Given the description of an element on the screen output the (x, y) to click on. 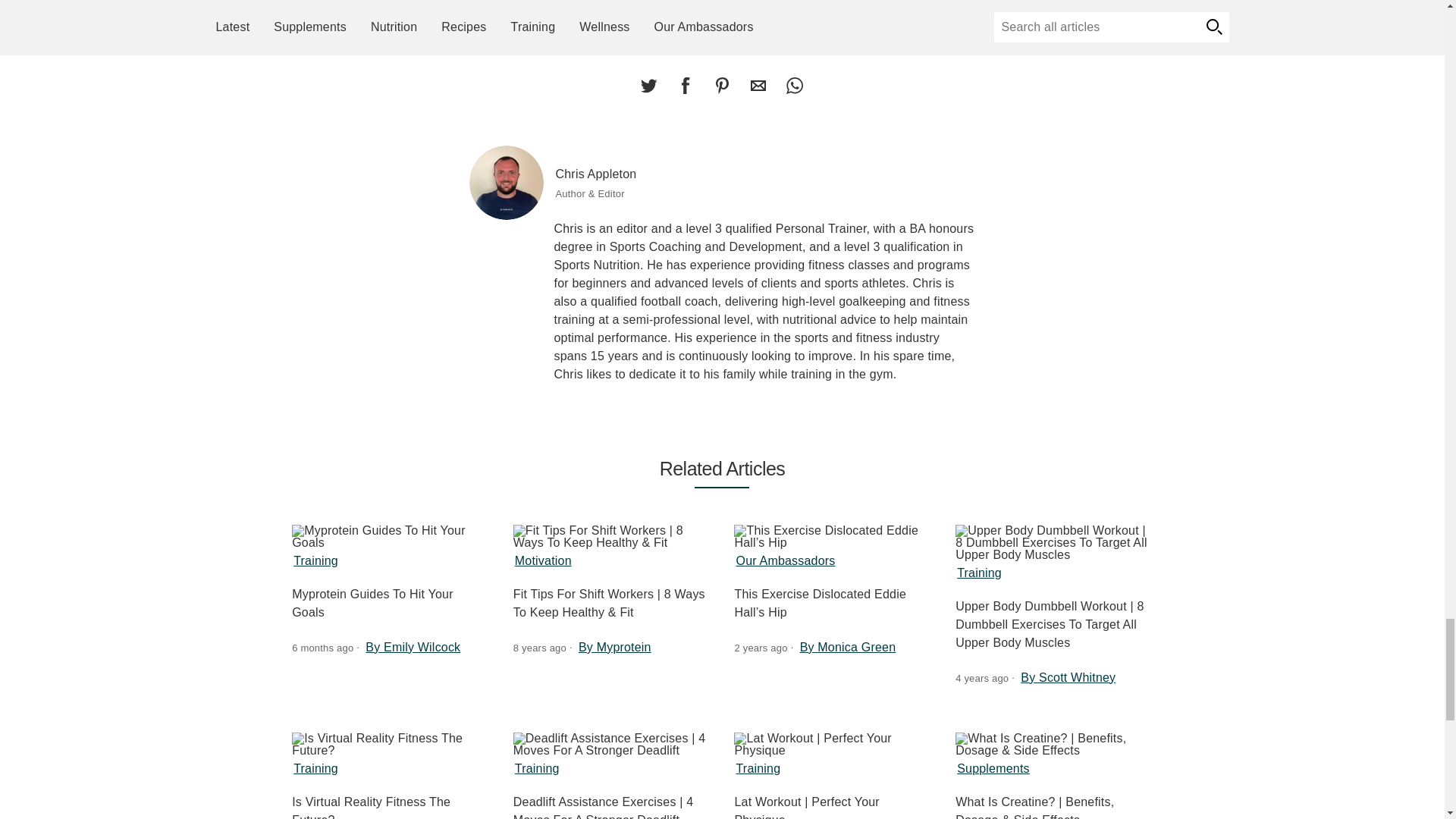
Share this on Pinterest (721, 85)
Share this by Email (757, 85)
Share this on WhatsApp (793, 85)
Share this on Facebook (684, 85)
Share this on Twitter (648, 85)
Chris Appleton (505, 182)
